Given the description of an element on the screen output the (x, y) to click on. 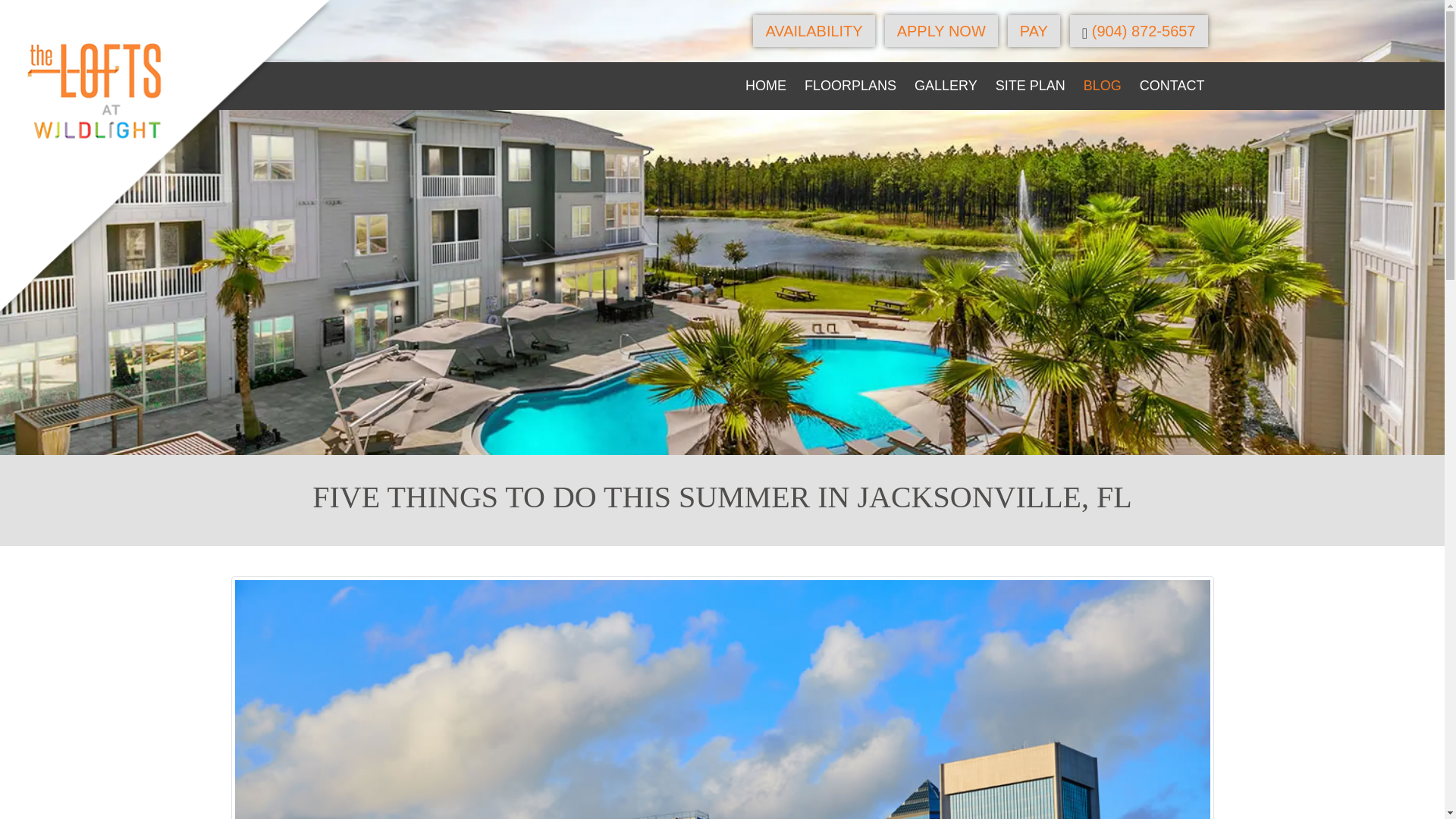
BLOG (1102, 85)
Contact (1172, 85)
CONTACT (1172, 85)
Gallery (946, 85)
Floorplans (849, 85)
GALLERY (946, 85)
PAY (1033, 30)
APPLY NOW (941, 30)
AVAILABILITY (813, 30)
HOME (765, 85)
Home (765, 85)
Blog (1102, 85)
SITE PLAN (1030, 85)
FLOORPLANS (849, 85)
Site Plan (1030, 85)
